Given the description of an element on the screen output the (x, y) to click on. 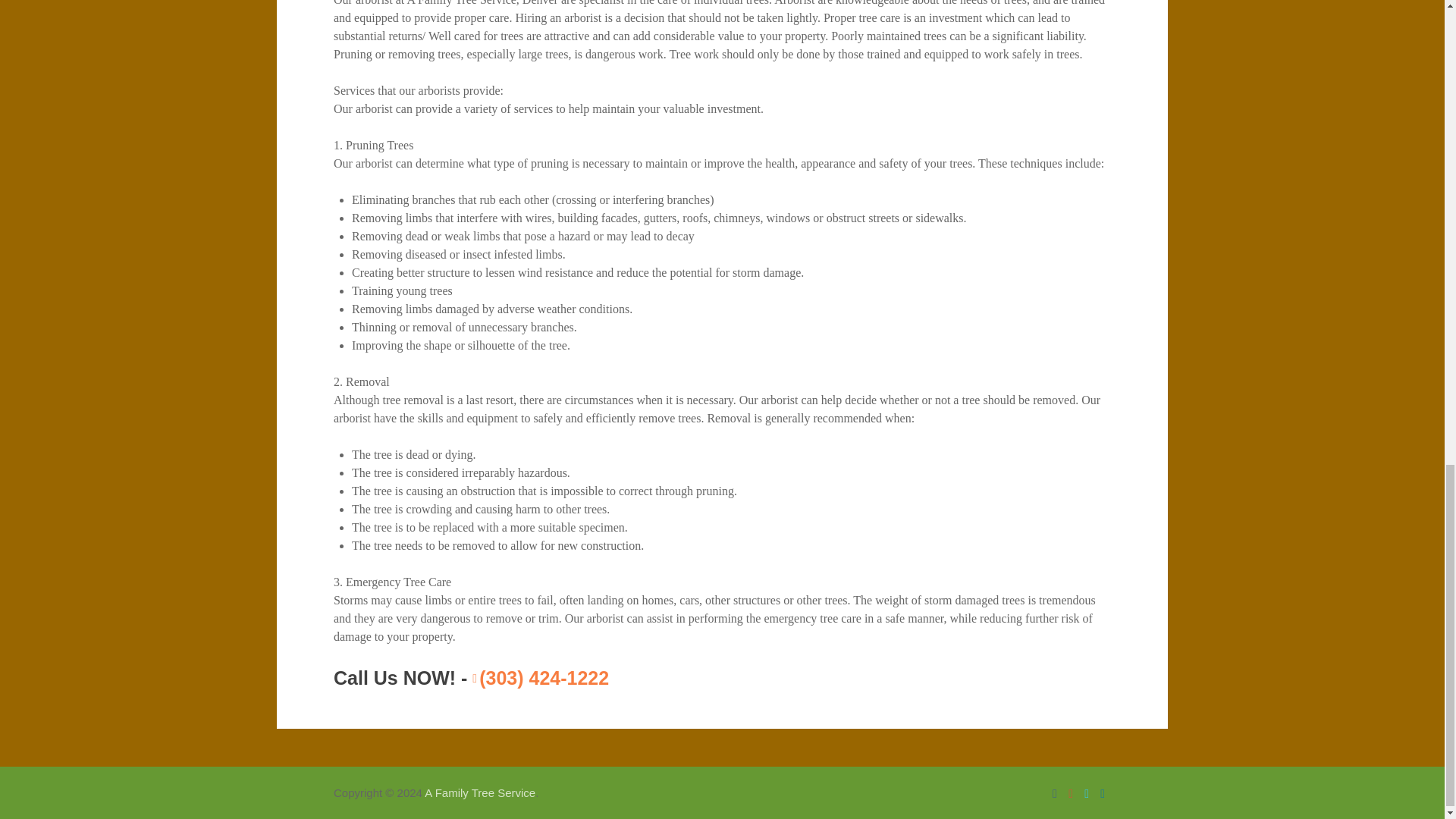
A Family Tree Service (480, 792)
